Given the description of an element on the screen output the (x, y) to click on. 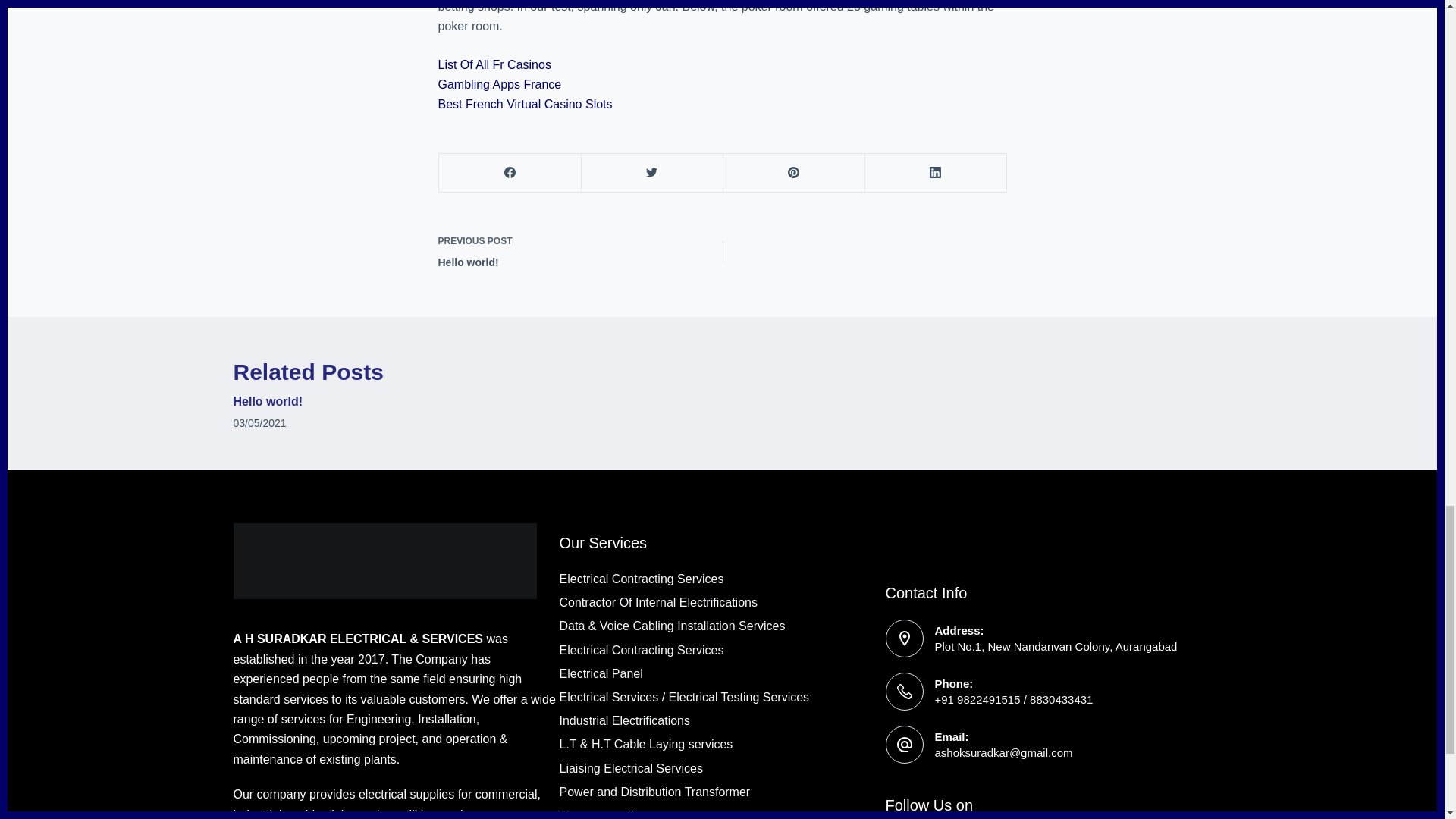
List Of All Fr Casinos (494, 64)
Gambling Apps France (500, 83)
Best French Virtual Casino Slots (525, 103)
